Given the description of an element on the screen output the (x, y) to click on. 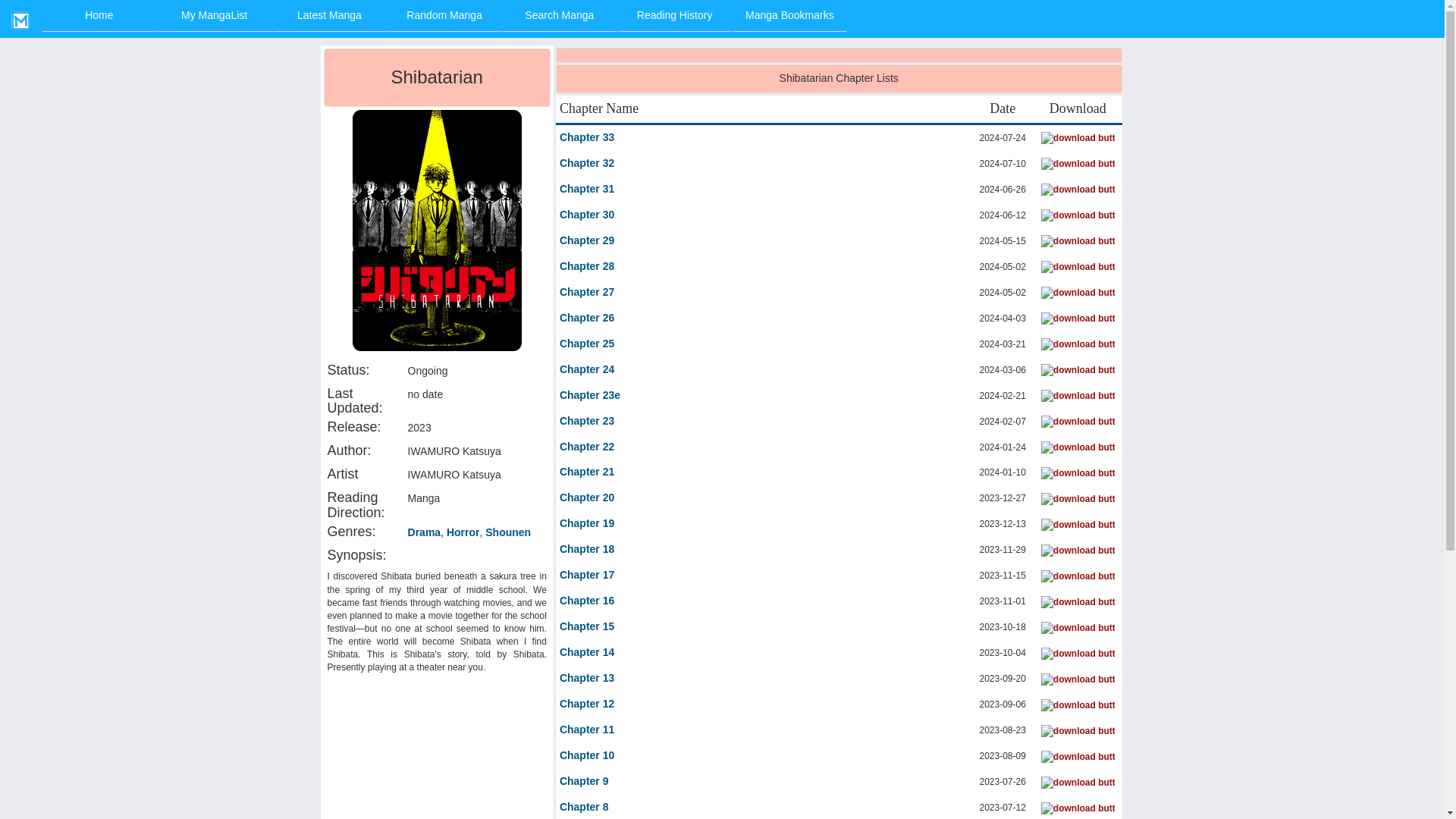
Chapter 33 (586, 137)
Manga Bookmarks (789, 15)
Chapter 25 (586, 344)
Reading History (674, 15)
Chapter 28 (586, 266)
Shounen (507, 532)
Home (99, 15)
Chapter 30 (586, 215)
Chapter 26 (586, 318)
Horror (463, 532)
Chapter 21 (586, 472)
Chapter 22 (586, 447)
Chapter 29 (586, 240)
Search Manga (559, 15)
Chapter 23e (589, 395)
